Given the description of an element on the screen output the (x, y) to click on. 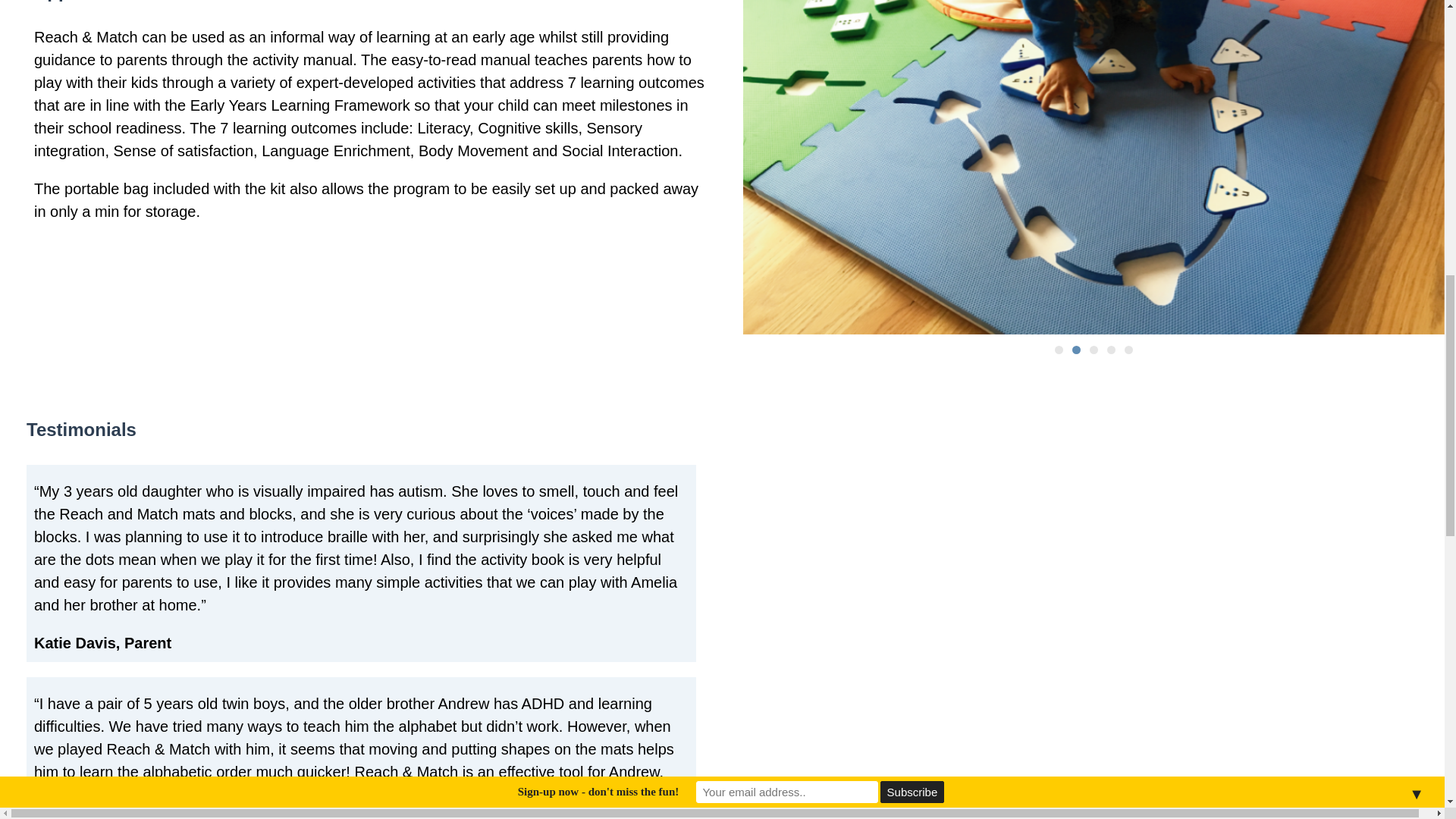
5 (1128, 349)
1 (1058, 349)
4 (1110, 349)
3 (1093, 349)
2 (1075, 349)
